Given the description of an element on the screen output the (x, y) to click on. 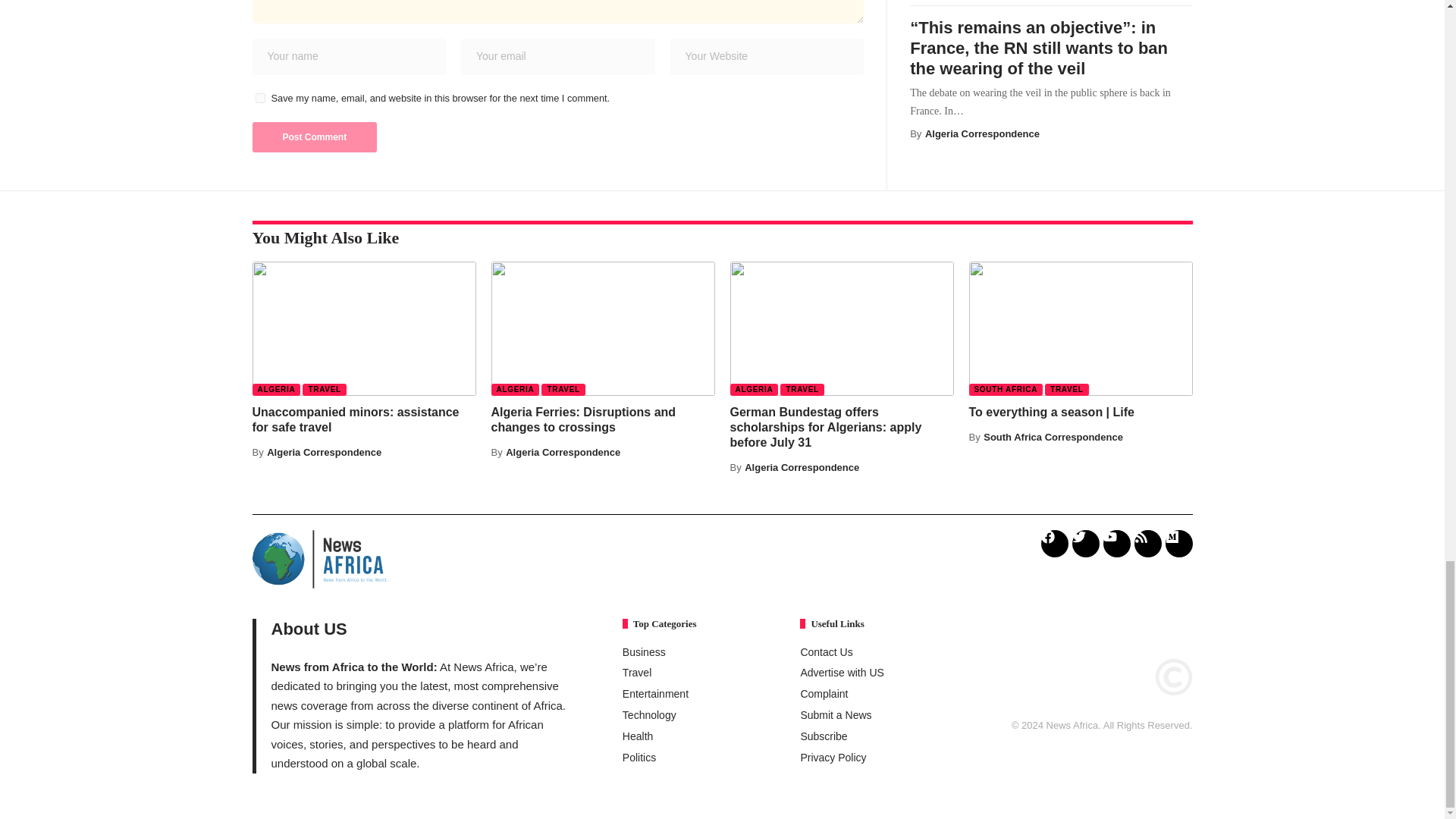
Algeria Ferries: Disruptions and changes to crossings (603, 328)
yes (259, 98)
Unaccompanied minors: assistance for safe travel (363, 328)
Post Comment (314, 137)
